Given the description of an element on the screen output the (x, y) to click on. 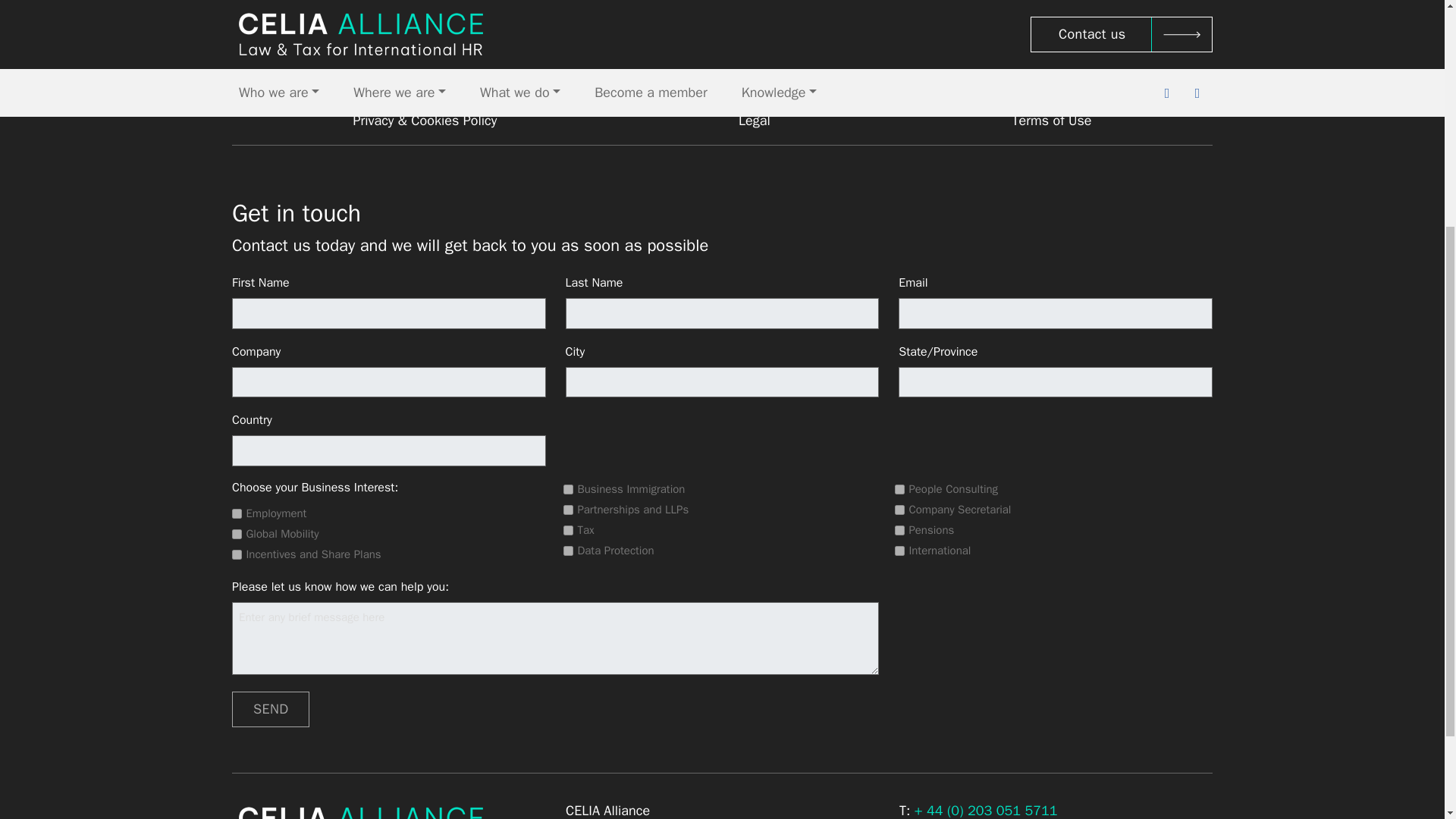
Business Immigration (568, 489)
Data Protection (568, 551)
International (899, 551)
Pensions (899, 530)
Tax (568, 530)
Legal (754, 120)
Global Mobility (236, 533)
People Consulting (899, 489)
Incentives and Share Plans (236, 554)
Employment (236, 513)
Company Secretarial (899, 510)
Partnerships and LLPs (568, 510)
